Given the description of an element on the screen output the (x, y) to click on. 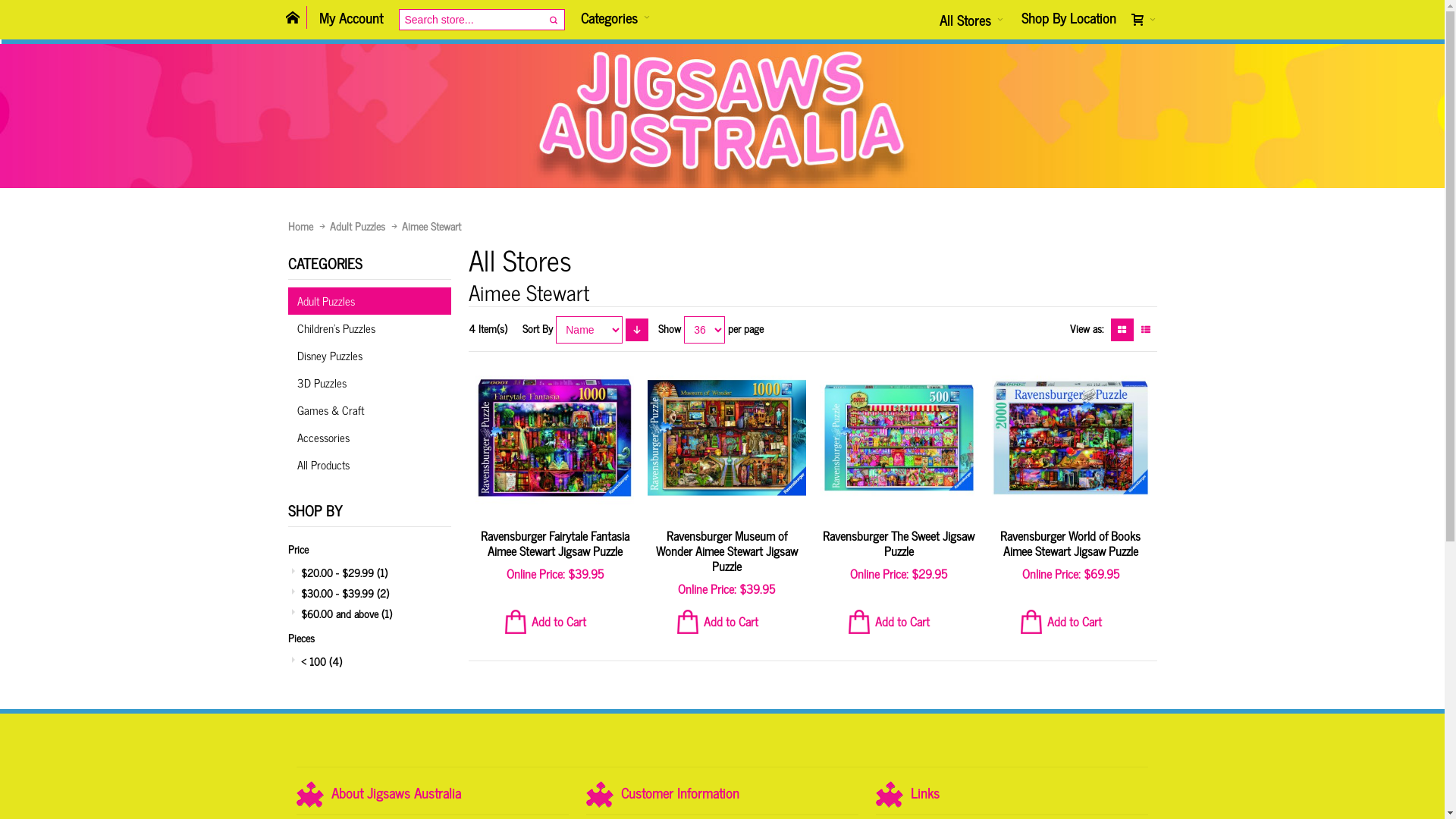
All Products Element type: text (369, 464)
Ravensburger Fairytale Fantasia Aimee Stewart Jigsaw Puzzle Element type: text (554, 542)
Rburg - Museum of Wonder Aimee Stewart Element type: hover (726, 437)
Search Element type: hover (553, 20)
Add to Cart Element type: text (727, 621)
Home Element type: text (300, 225)
Disney Puzzles Element type: text (369, 355)
Rburg - The Sweet Shop Puzzle 500pc Element type: hover (898, 437)
Add to Cart Element type: text (1070, 621)
< 100 (4) Element type: text (369, 660)
$20.00 - $29.99 (1) Element type: text (369, 571)
Add to Cart Element type: text (898, 621)
List Element type: hover (1145, 329)
Rburg - World of Books Aimee Stewart Element type: hover (1070, 437)
Accessories Element type: text (369, 437)
Games & Craft Element type: text (369, 409)
All Stores   Element type: text (971, 19)
Add to Cart Element type: text (555, 621)
My Account Element type: text (350, 19)
Set Descending Direction Element type: hover (636, 329)
Children's Puzzles Element type: text (369, 328)
Grid Element type: hover (1121, 329)
Shop By Location Element type: text (1067, 17)
Rburg - Fairytale Fantasia Aimee Stewart Element type: hover (554, 437)
$60.00 and above (1) Element type: text (369, 612)
Ravensburger Museum of Wonder Aimee Stewart Jigsaw Puzzle Element type: text (726, 550)
  Element type: text (1144, 19)
Ravensburger World of Books Aimee Stewart Jigsaw Puzzle Element type: text (1070, 542)
$30.00 - $39.99 (2) Element type: text (369, 592)
3D Puzzles Element type: text (369, 382)
Adult Puzzles Element type: text (356, 225)
Ravensburger The Sweet Jigsaw Puzzle Element type: text (898, 542)
Adult Puzzles Element type: text (369, 300)
